Given the description of an element on the screen output the (x, y) to click on. 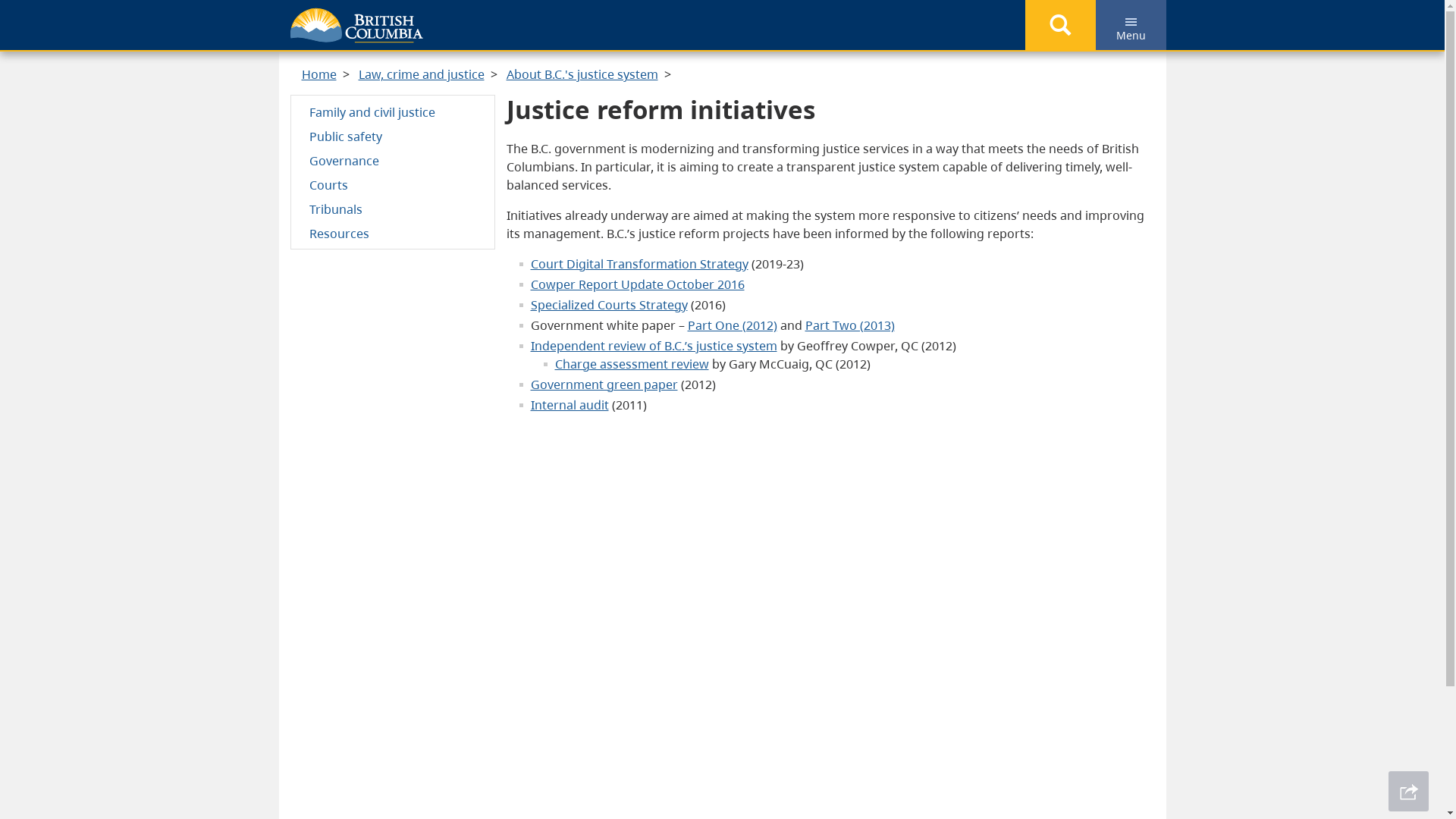
Home Element type: text (318, 73)
Government of B.C. Element type: hover (355, 25)
Internal audit Element type: text (569, 404)
Resources Element type: text (392, 232)
Government green paper Element type: text (603, 384)
Menu Element type: text (1130, 25)
Court Digital Transformation Strategy Element type: text (639, 263)
Cowper Report Update October 2016 Element type: text (637, 284)
Governance Element type: text (392, 159)
Public safety Element type: text (392, 135)
Courts Element type: text (392, 183)
Part Two (2013) Element type: text (849, 324)
Tribunals Element type: text (392, 208)
About B.C.'s justice system Element type: text (582, 73)
Specialized Courts Strategy Element type: text (608, 304)
Law, crime and justice Element type: text (420, 73)
Share This Page Element type: hover (1408, 791)
Part One (2012) Element type: text (731, 324)
Charge assessment review Element type: text (632, 363)
Family and civil justice Element type: text (392, 111)
